Given the description of an element on the screen output the (x, y) to click on. 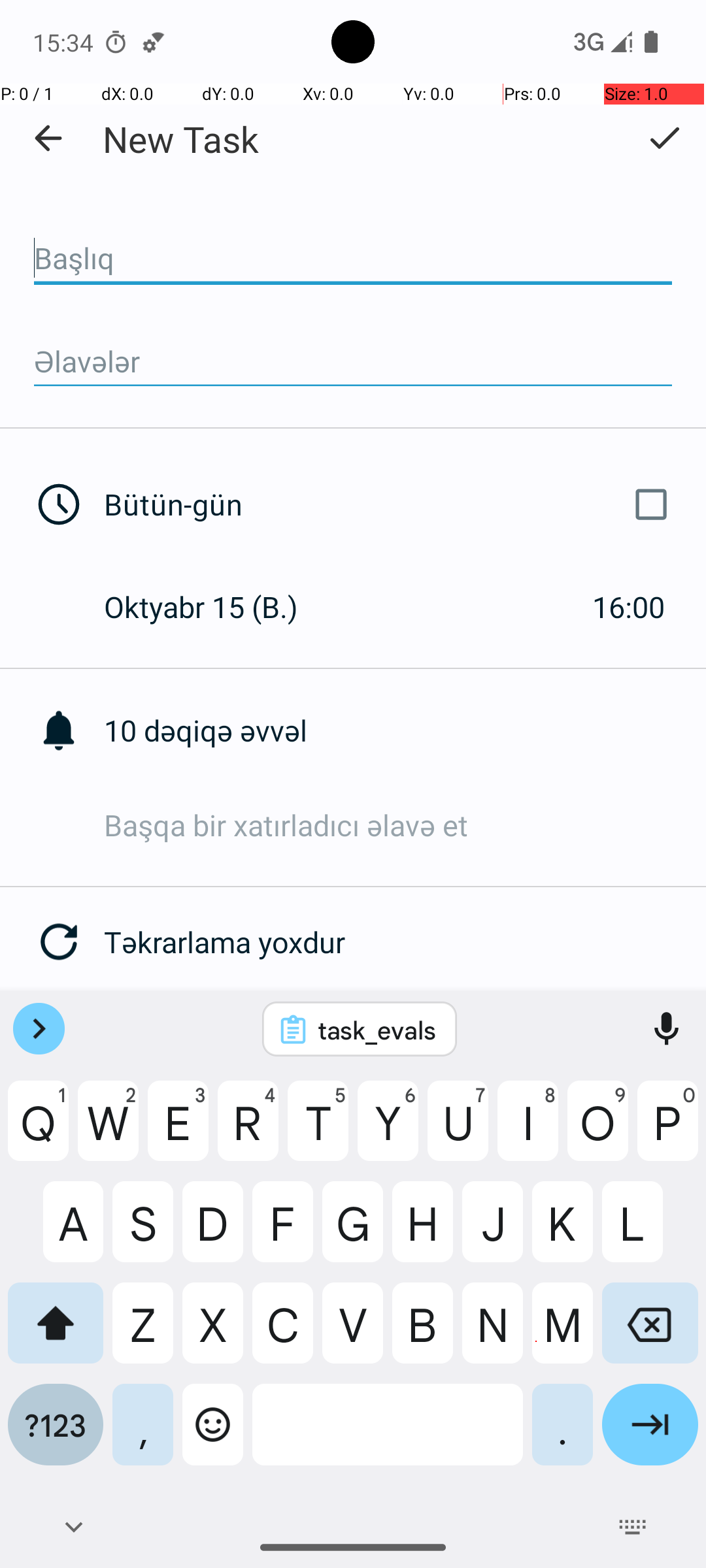
New Task Element type: android.widget.TextView (180, 138)
Saxla Element type: android.widget.Button (664, 137)
Başlıq Element type: android.widget.EditText (352, 258)
Əlavələr Element type: android.widget.EditText (352, 361)
Oktyabr 15 (B.) Element type: android.widget.TextView (214, 606)
10 dəqiqə əvvəl Element type: android.widget.TextView (404, 729)
Başqa bir xatırladıcı əlavə et Element type: android.widget.TextView (404, 824)
Təkrarlama yoxdur Element type: android.widget.TextView (404, 941)
Bütün-gün Element type: android.widget.CheckBox (390, 504)
